Given the description of an element on the screen output the (x, y) to click on. 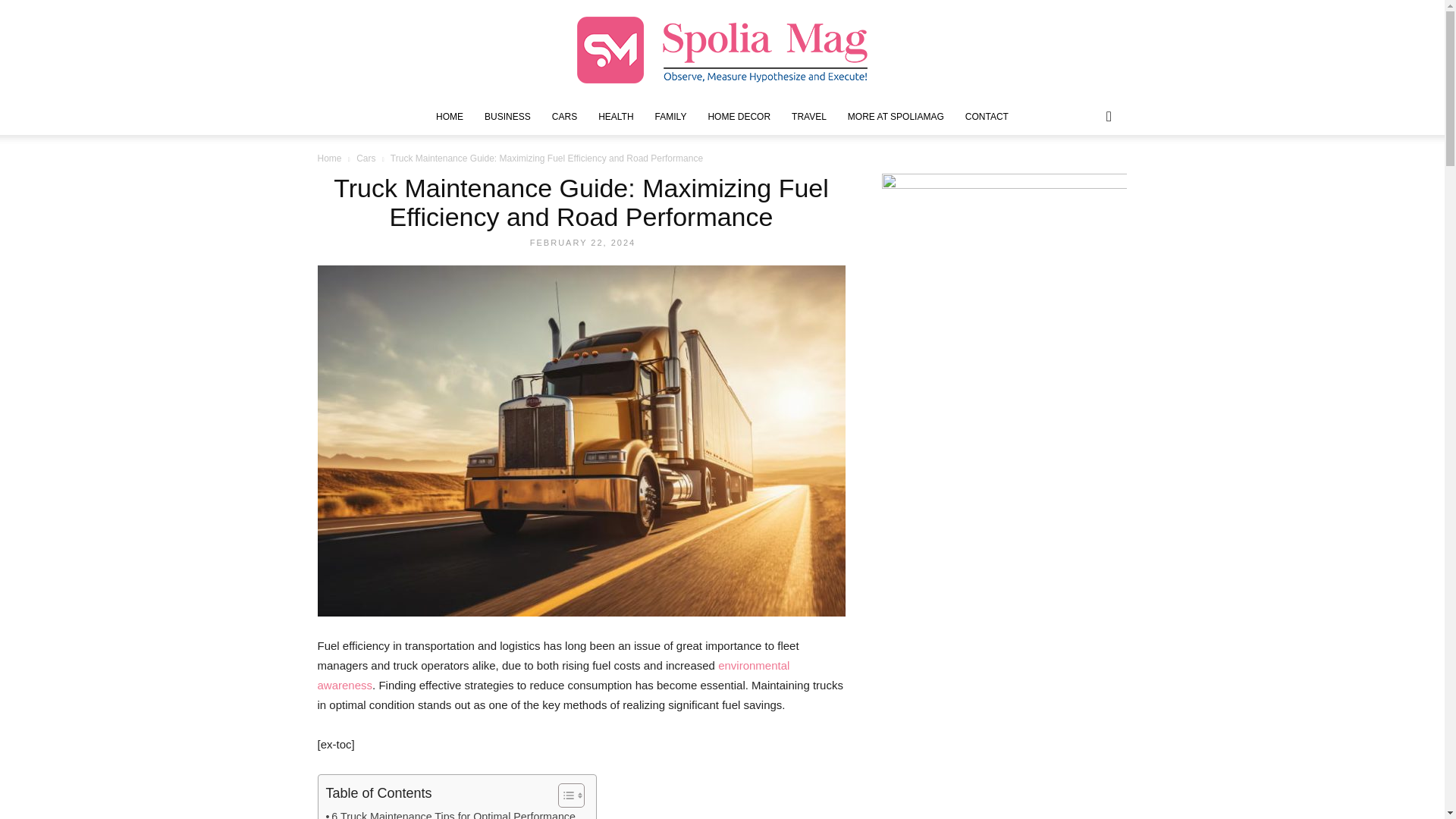
View all posts in Cars (365, 158)
6 Truck Maintenance Tips for Optimal Performance (450, 813)
Spolia Mag - Enhance you Lifestyle (721, 49)
